Given the description of an element on the screen output the (x, y) to click on. 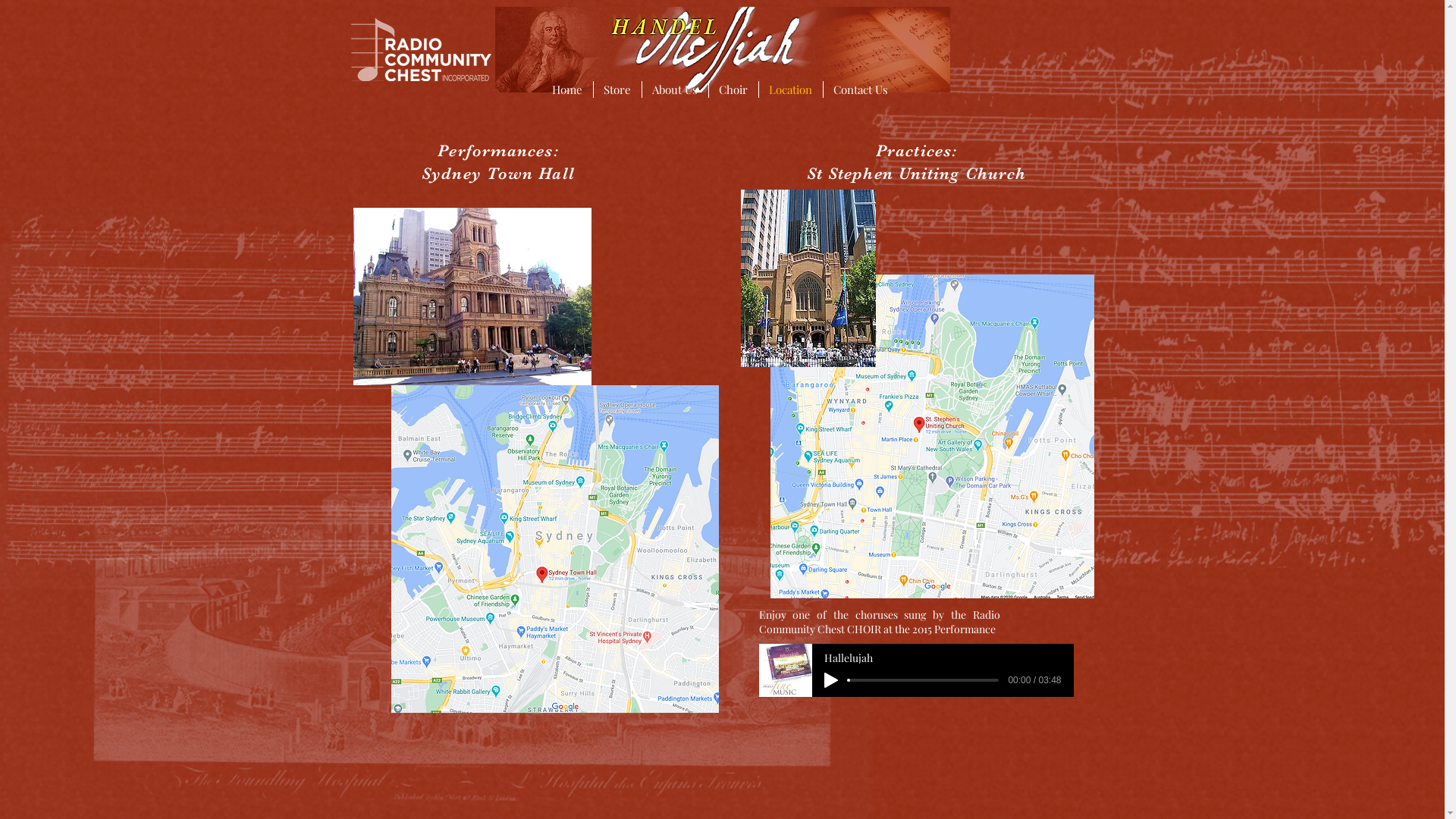
header.png Element type: hover (721, 49)
Choir Element type: text (732, 89)
StStephen.jpg Element type: hover (807, 278)
radiocommunitychestlogo.png Element type: hover (420, 49)
Store Element type: text (616, 89)
Contact Us Element type: text (860, 89)
About Us Element type: text (674, 89)
SydneyTownHall.jpg Element type: hover (472, 296)
screenshot2 Element type: hover (932, 436)
Location Element type: text (790, 89)
screenshot1 Element type: hover (554, 548)
Home Element type: text (566, 89)
